Given the description of an element on the screen output the (x, y) to click on. 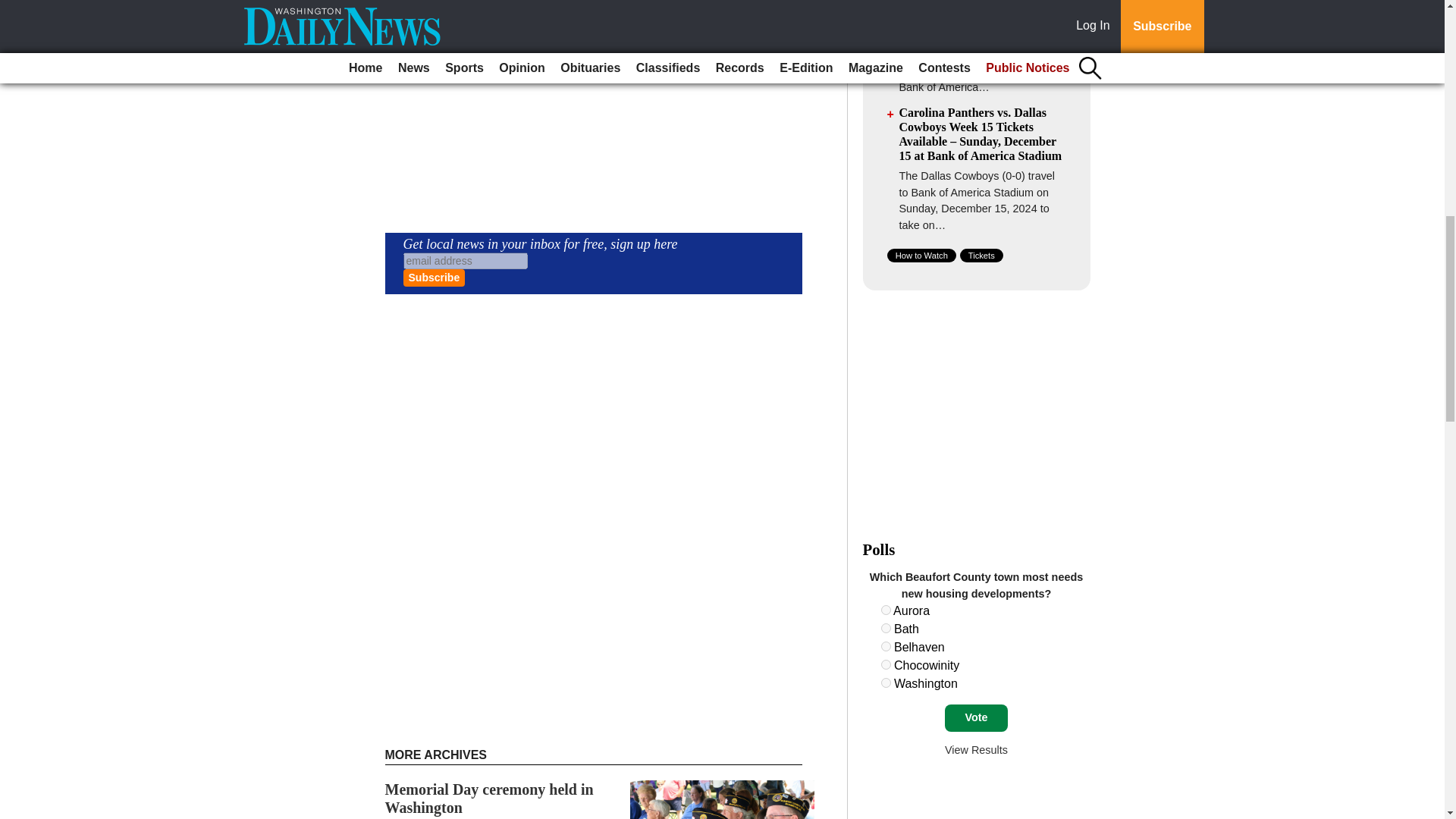
Subscribe (434, 277)
Memorial Day ceremony held in Washington (489, 798)
4370 (885, 628)
Tickets (981, 255)
View Results (975, 749)
View Results Of This Poll (975, 749)
4371 (885, 646)
4369 (885, 610)
Subscribe (434, 277)
   Vote    (975, 718)
4372 (885, 664)
Memorial Day ceremony held in Washington (489, 798)
How to Watch (921, 255)
4373 (885, 682)
